Given the description of an element on the screen output the (x, y) to click on. 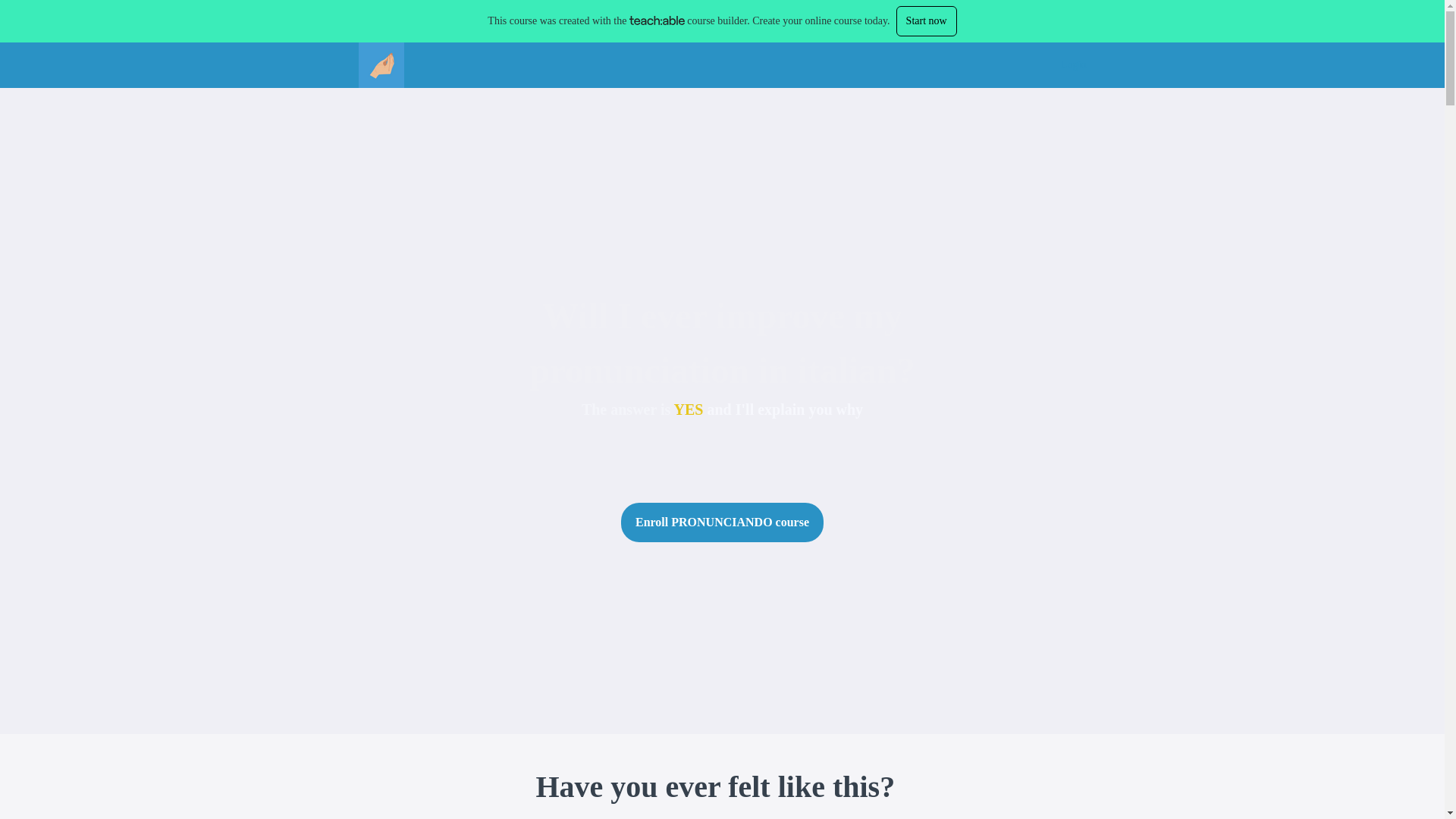
Login (1073, 64)
Enroll PRONUNCIANDO course (722, 522)
Start now (926, 20)
teachable.com (656, 19)
Enroll PRONUNCIANDO course (722, 521)
